Given the description of an element on the screen output the (x, y) to click on. 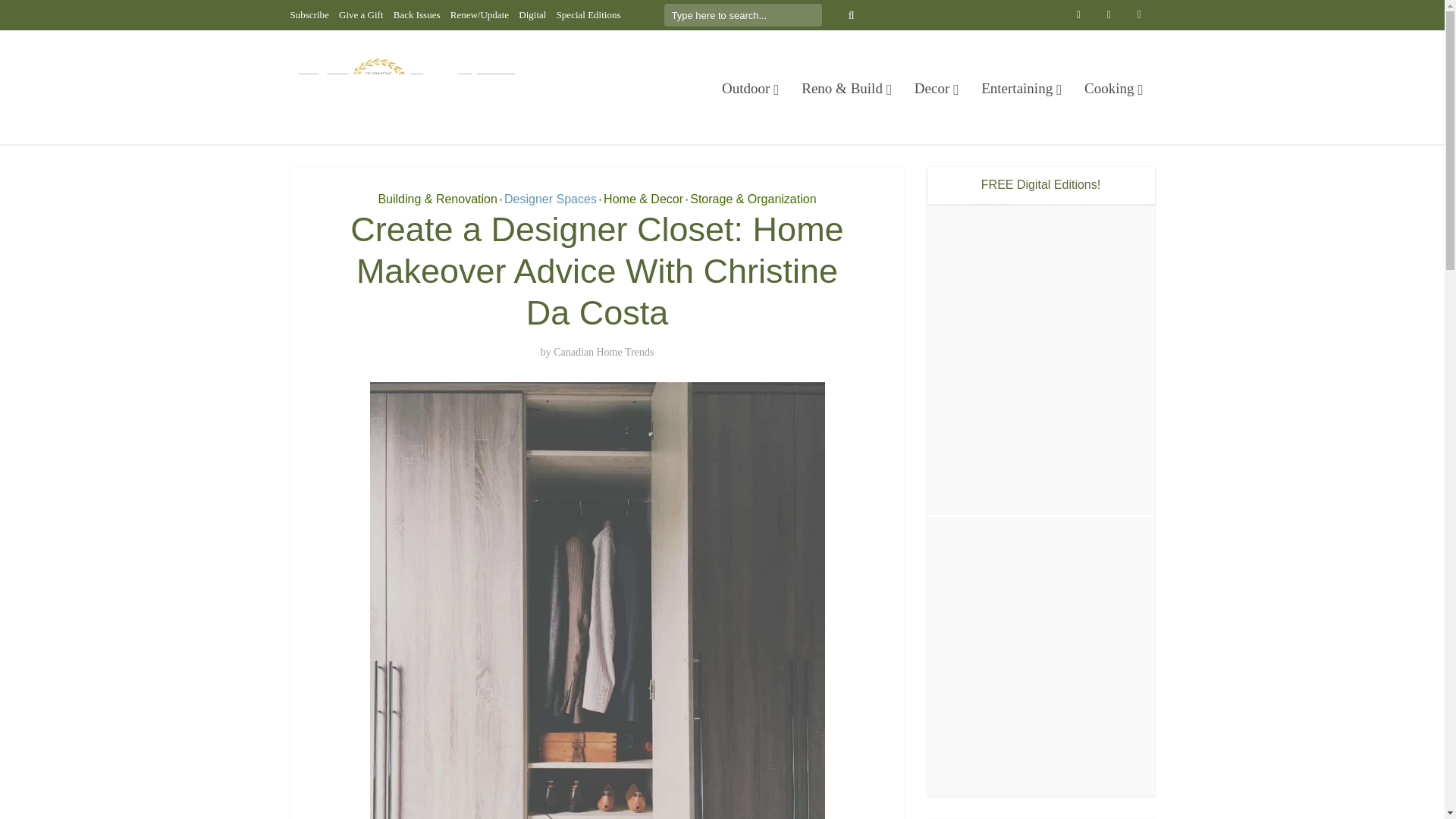
Special Editions (588, 14)
Digital (532, 14)
Subscribe (309, 14)
Back Issues (417, 14)
Type here to search... (742, 15)
Type here to search... (742, 15)
Give a Gift (360, 14)
